Given the description of an element on the screen output the (x, y) to click on. 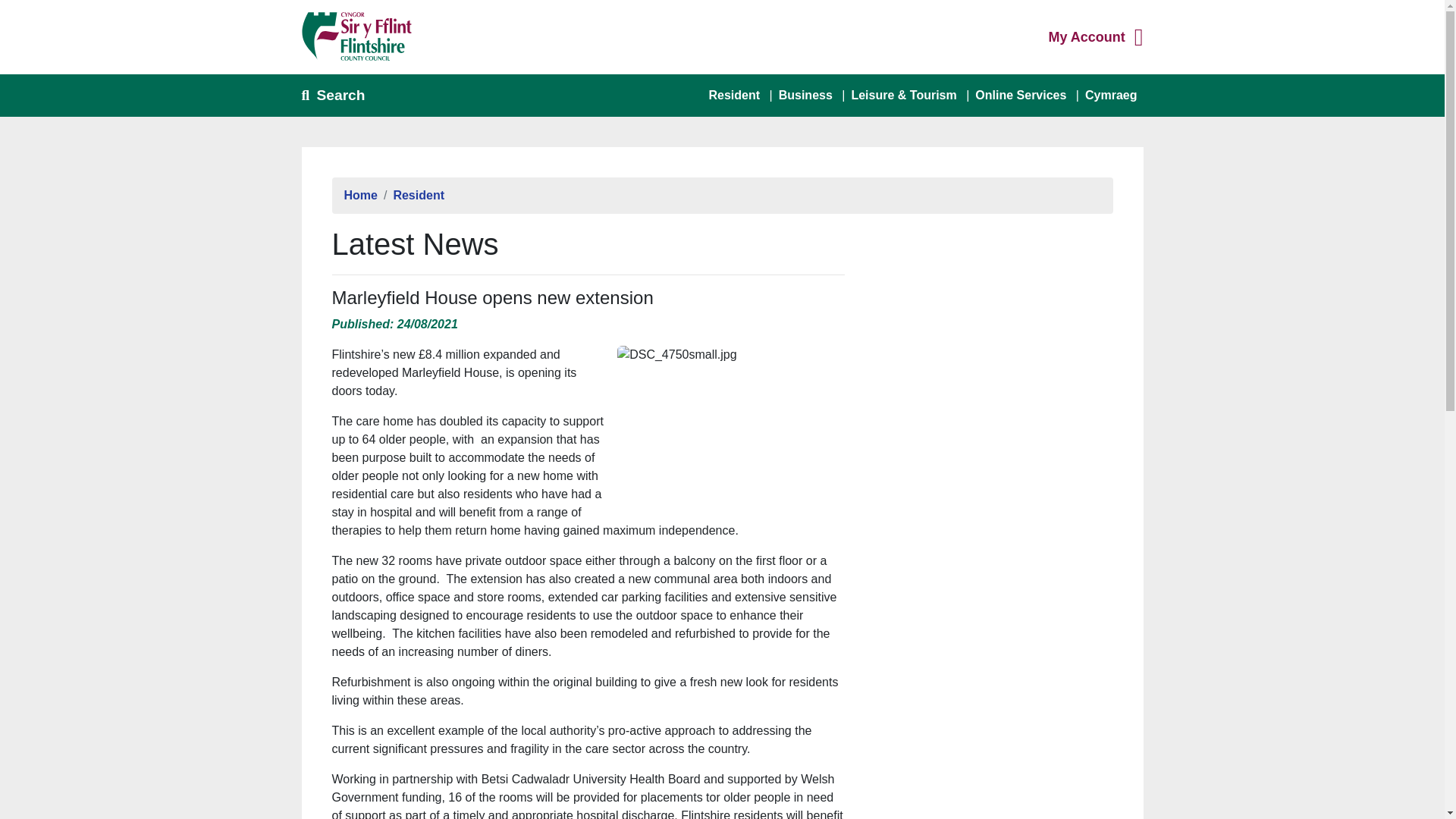
Welcome to Flintshire County Council (360, 195)
Online Services (1020, 95)
Resident (418, 195)
Flintshire My Account login (1086, 37)
Link to Resident Services (733, 95)
Home (1086, 37)
Link to Online Services (360, 195)
Link to Business Services (1020, 95)
Resident (805, 95)
Business (733, 95)
Cymraeg (805, 95)
Resident (1110, 95)
Link to welsh website (418, 195)
Link to Tourism Services (1110, 95)
